Given the description of an element on the screen output the (x, y) to click on. 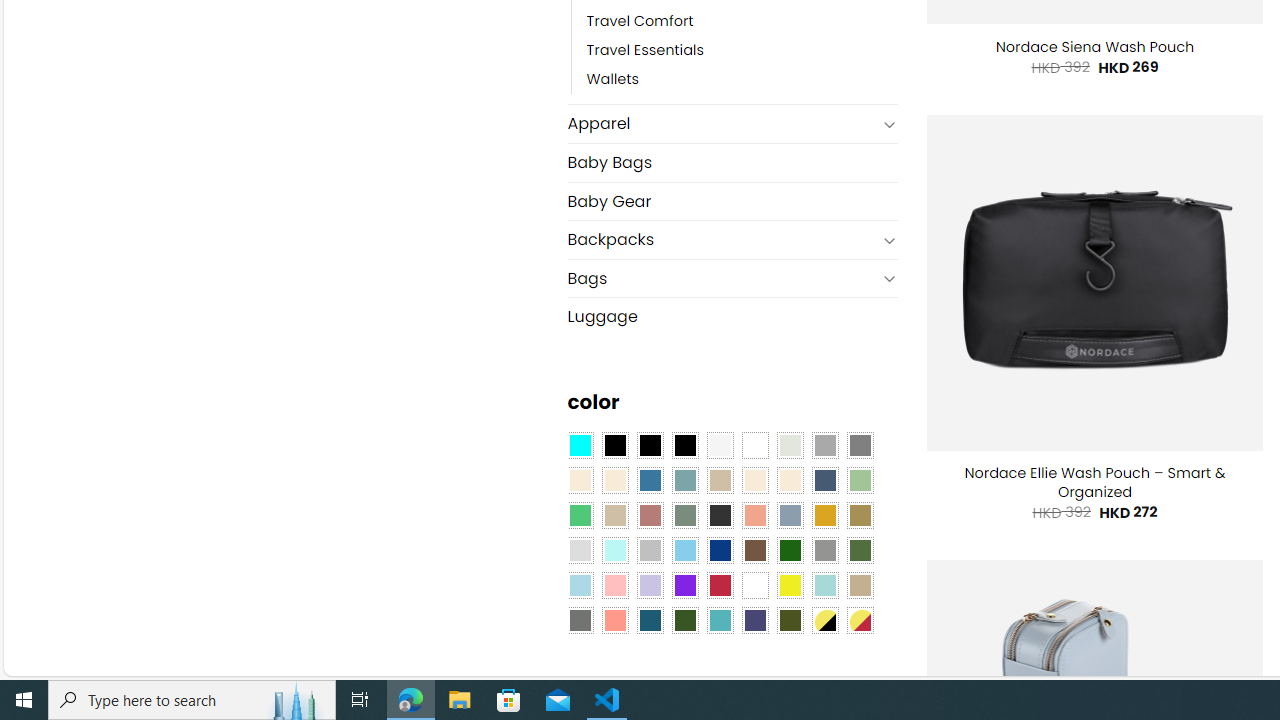
Gray (824, 550)
Teal (719, 619)
Travel Essentials (742, 51)
Luggage (732, 317)
Khaki (859, 584)
Navy Blue (719, 550)
Hale Navy (824, 480)
Purple Navy (755, 619)
Yellow-Red (859, 619)
Blue Sage (684, 480)
Bags (721, 278)
Black-Brown (684, 444)
Rose (650, 514)
Peach Pink (614, 619)
Travel Comfort (742, 21)
